Given the description of an element on the screen output the (x, y) to click on. 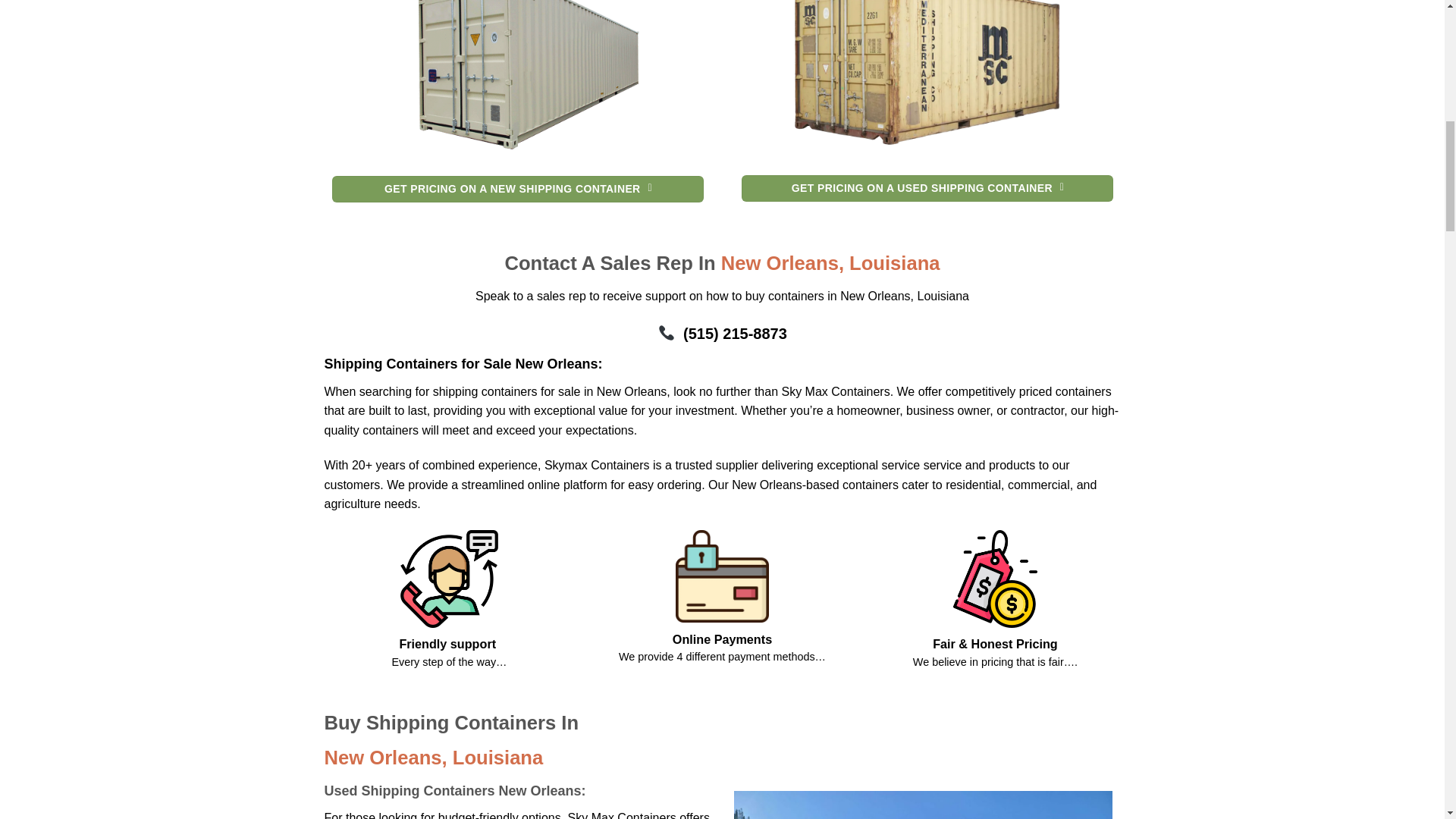
GET PRICING ON A NEW SHIPPING CONTAINER (517, 189)
GET PRICING ON A USED SHIPPING CONTAINER (927, 188)
